Given the description of an element on the screen output the (x, y) to click on. 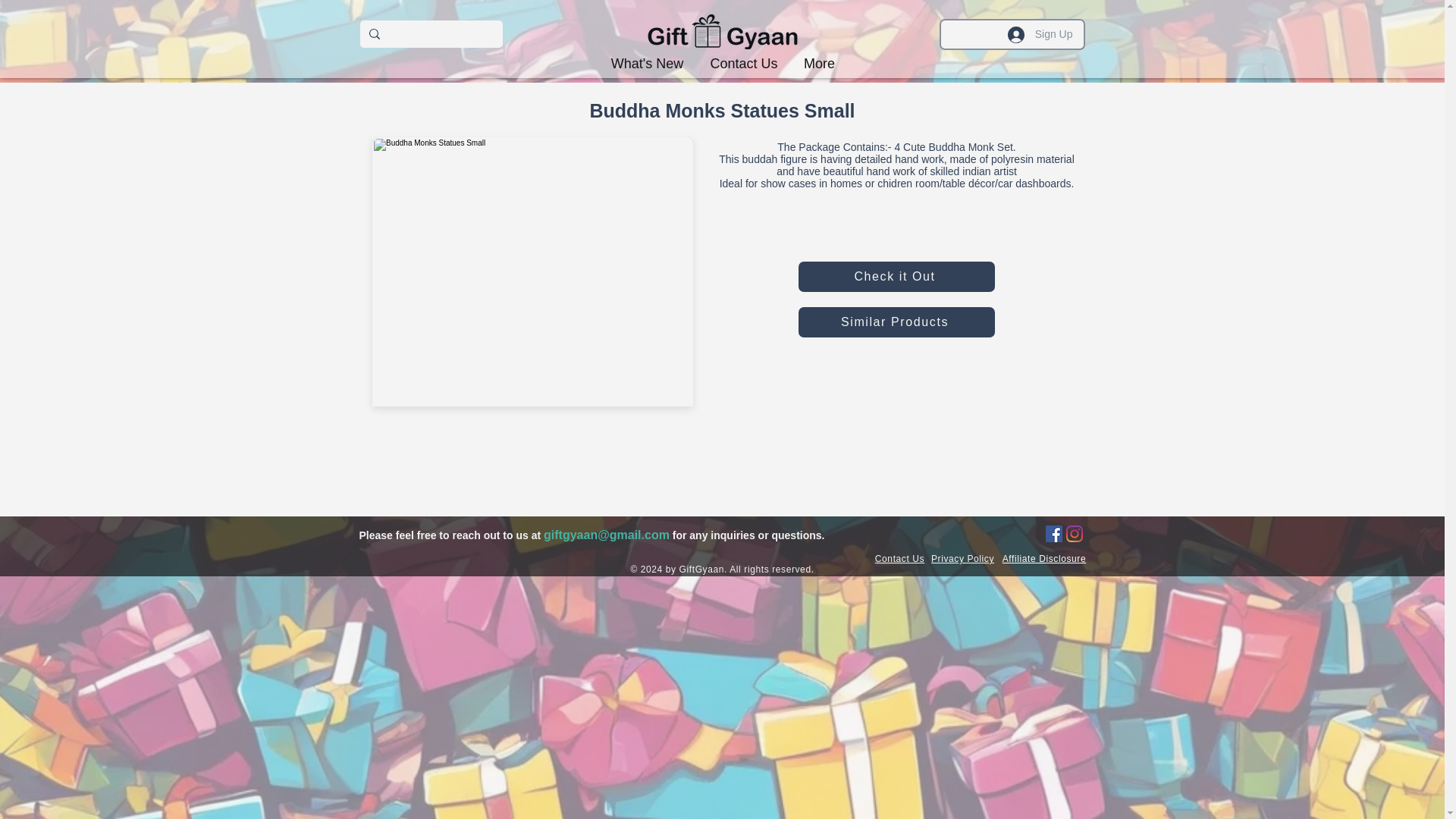
Sign Up (1040, 33)
Affiliate Disclosure (1044, 558)
Check it Out (895, 276)
Contact Us (743, 63)
What's New (646, 63)
Buddha Monks Statues Small (532, 276)
Please feel free to reach out to us at (451, 535)
Similar Products (895, 322)
Privacy Policy (962, 558)
Contact Us (899, 558)
